Given the description of an element on the screen output the (x, y) to click on. 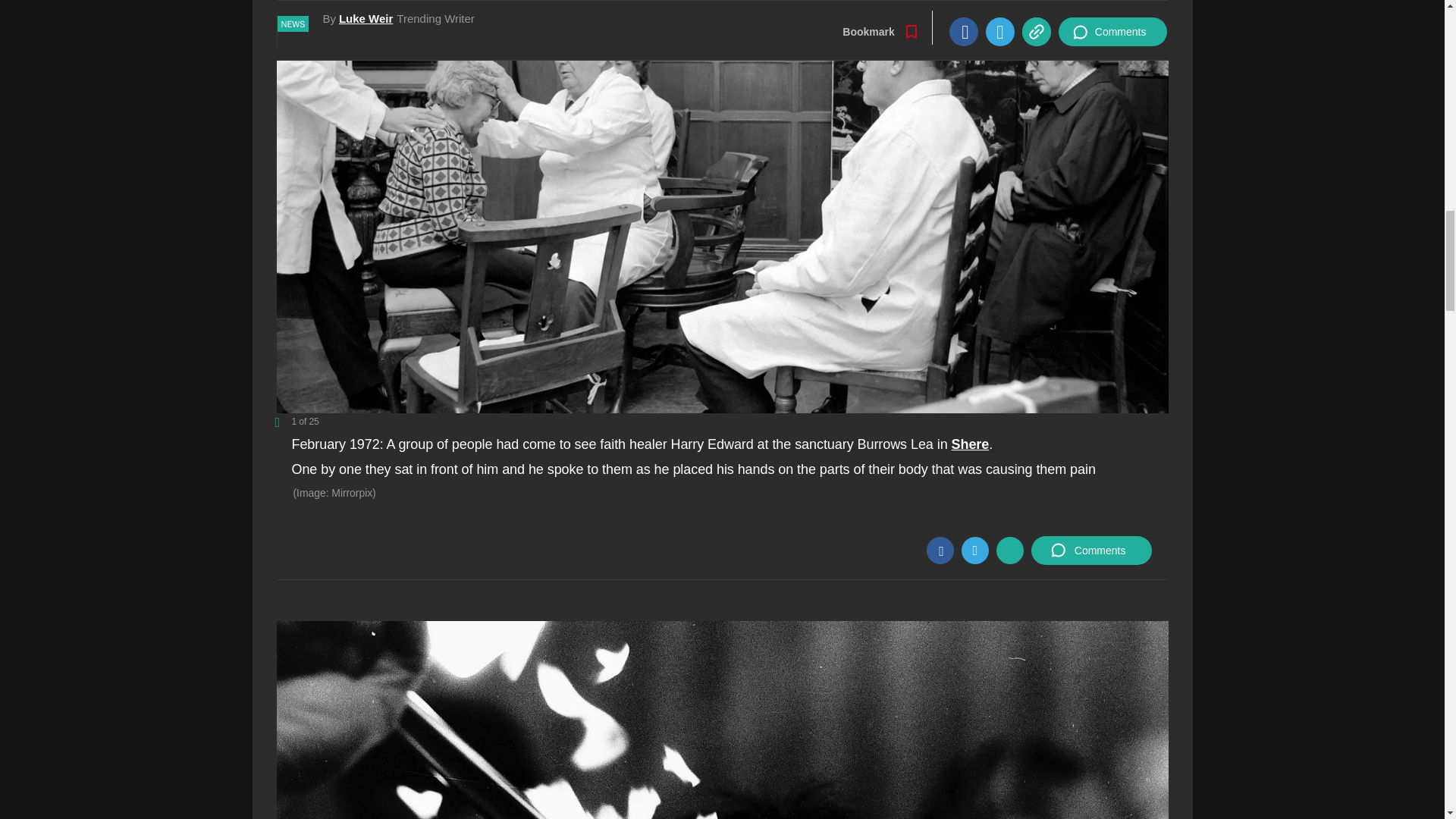
Twitter (974, 550)
Comments (1090, 550)
Facebook (939, 550)
